Given the description of an element on the screen output the (x, y) to click on. 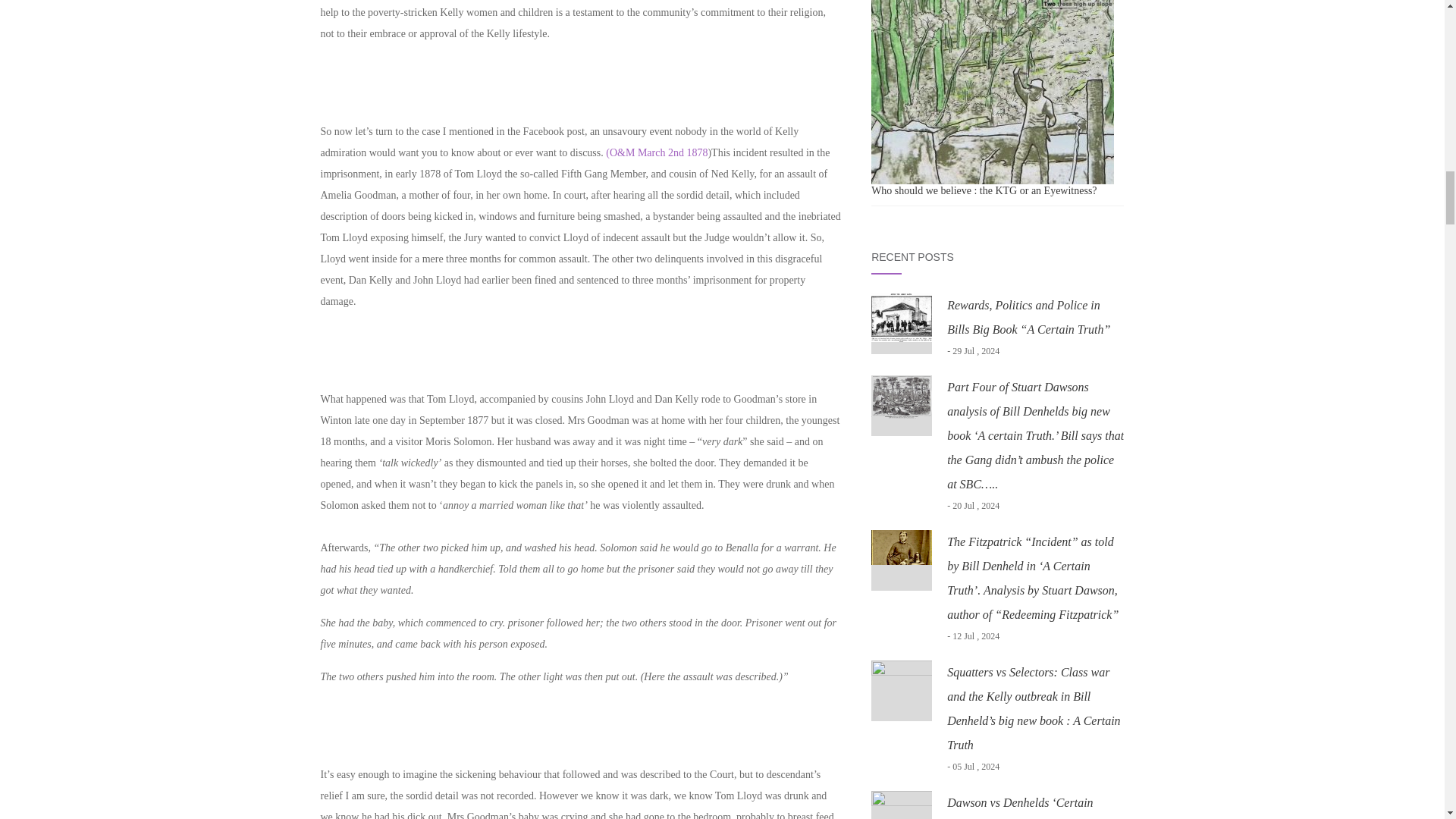
Who should we believe : the KTG or an Eyewitness? (991, 92)
